Given the description of an element on the screen output the (x, y) to click on. 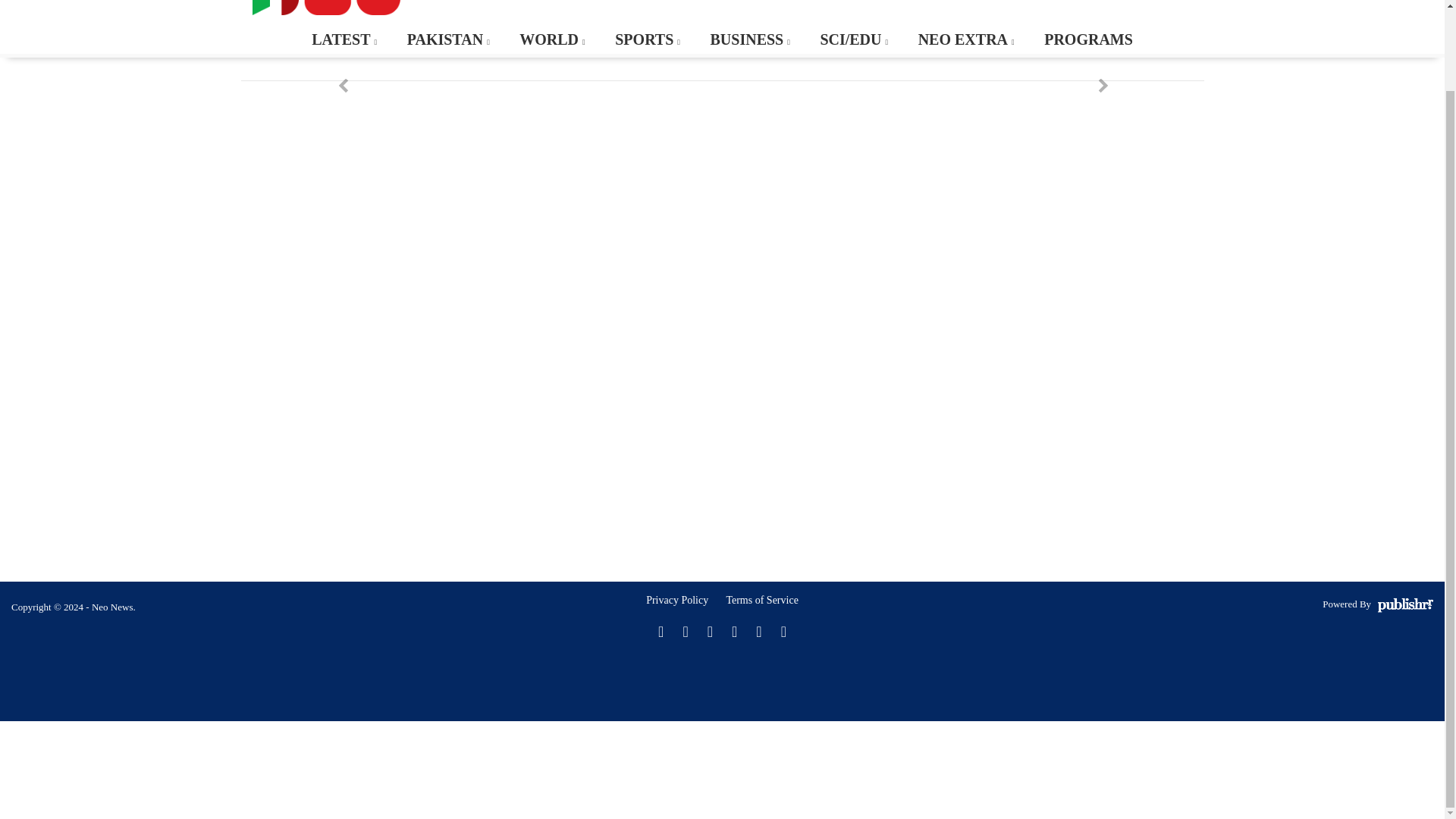
LATEST (342, 39)
Skip to content (71, 31)
SKIP TO CONTENT (71, 31)
WORLD (549, 39)
PAKISTAN (446, 39)
